Given the description of an element on the screen output the (x, y) to click on. 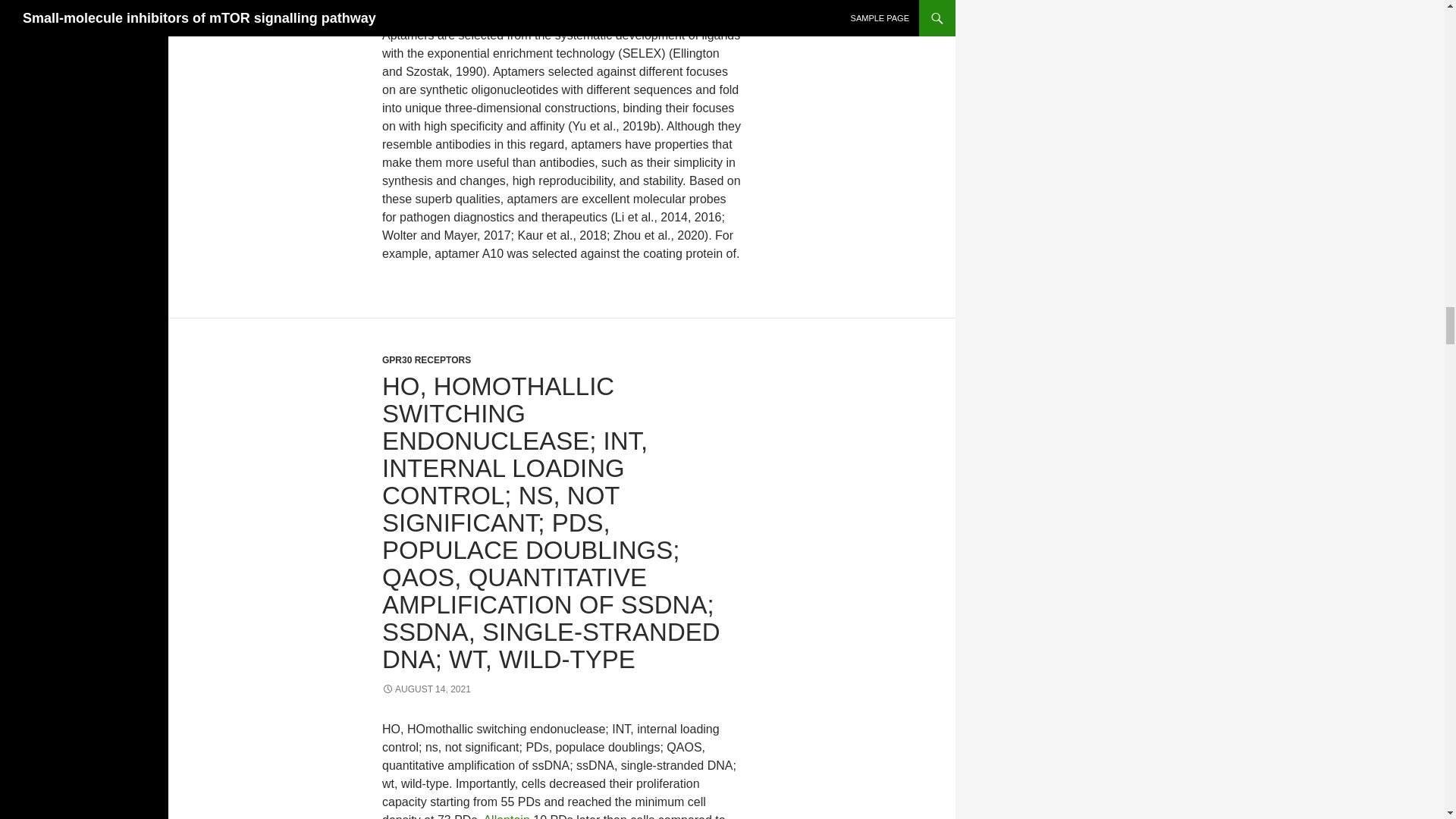
AUGUST 14, 2021 (425, 688)
GPR30 RECEPTORS (425, 359)
Allantoin (506, 816)
